Given the description of an element on the screen output the (x, y) to click on. 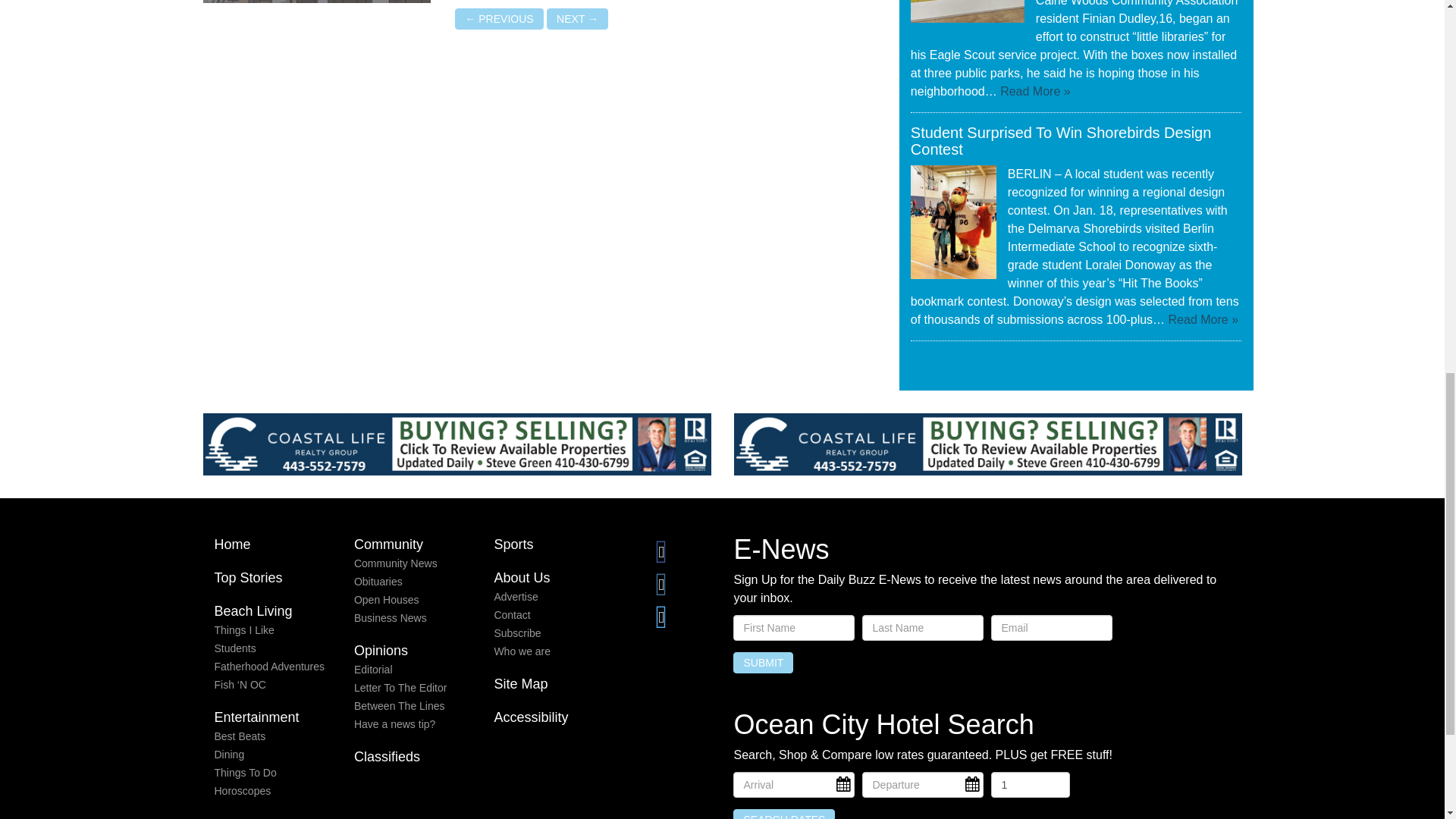
1 (1029, 784)
